Given the description of an element on the screen output the (x, y) to click on. 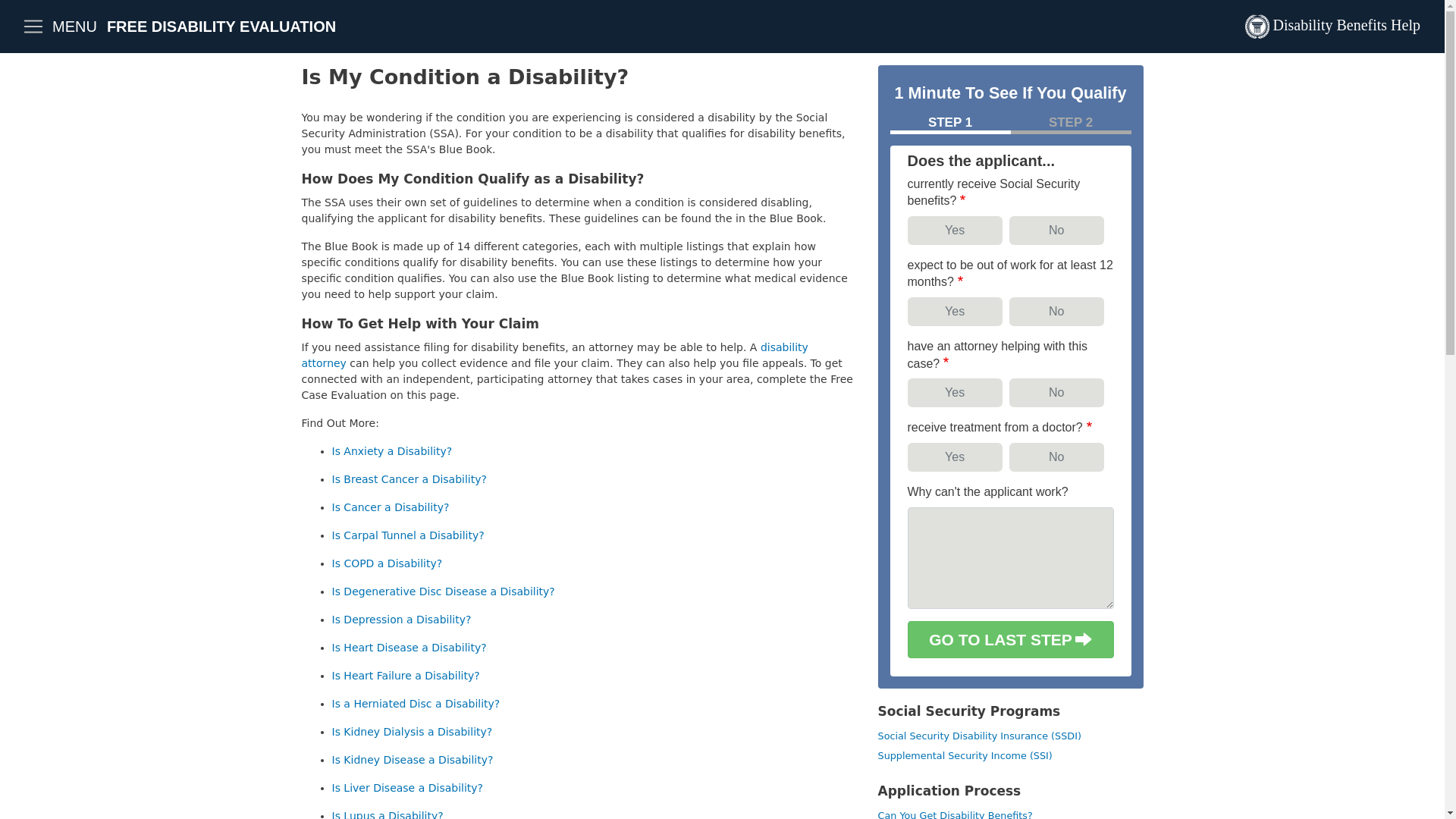
Home (1332, 26)
MENU (58, 26)
Skip to main content (721, 1)
FREE DISABILITY EVALUATION (221, 26)
Disability Benefits Help (1332, 26)
